Given the description of an element on the screen output the (x, y) to click on. 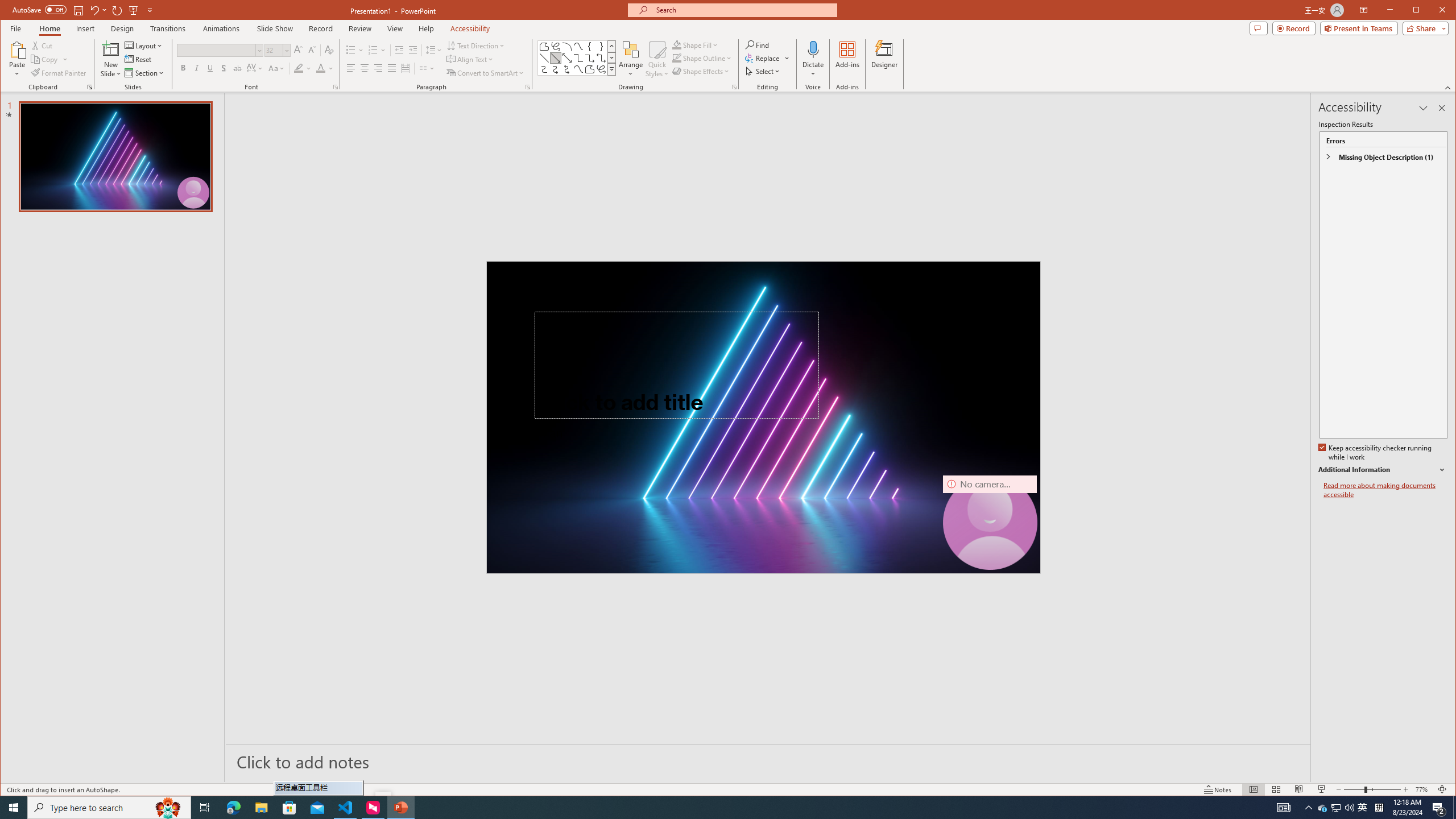
Neon laser lights aligned to form a triangle (762, 417)
